Given the description of an element on the screen output the (x, y) to click on. 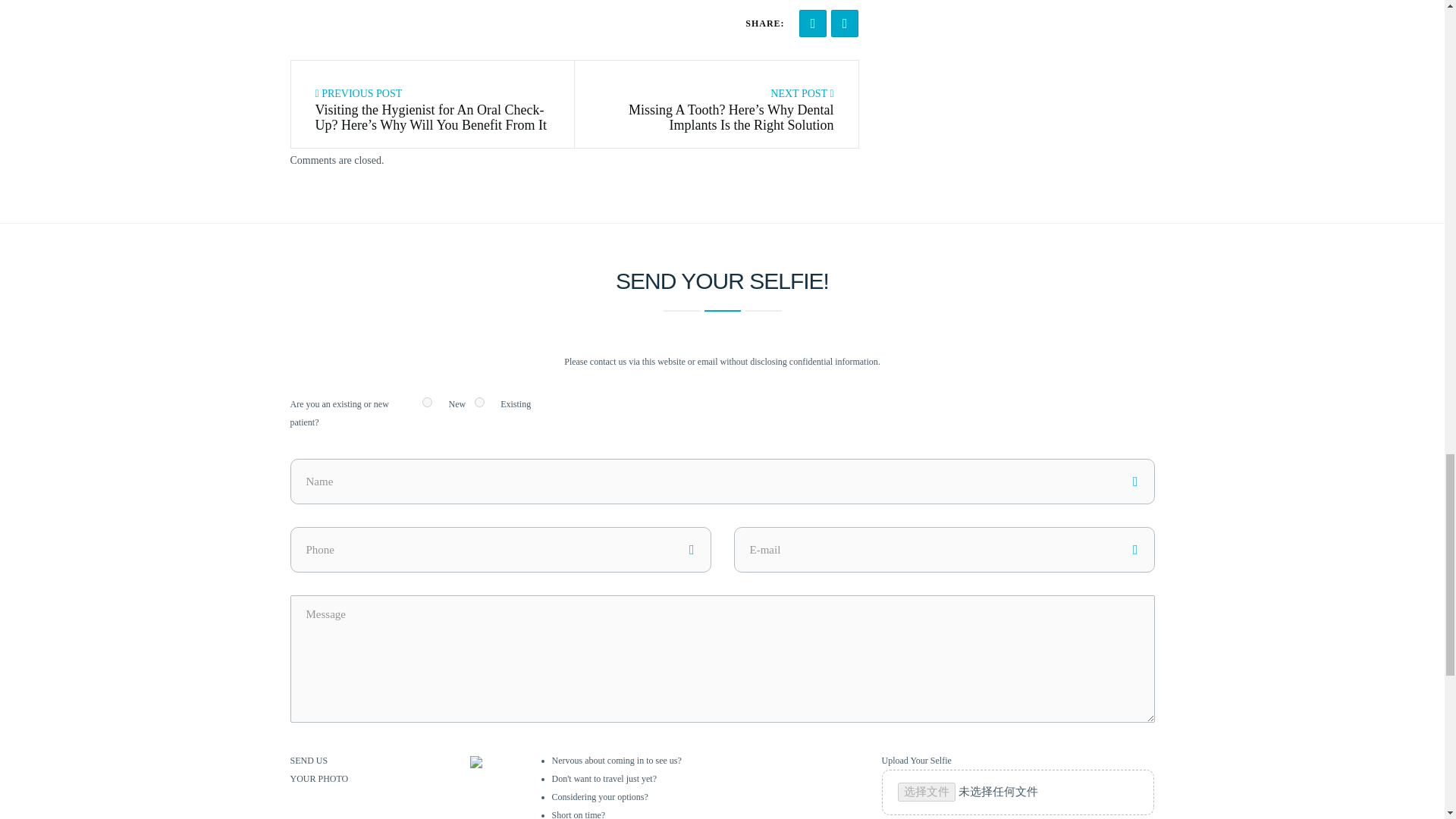
Existing (479, 402)
Tweet (845, 22)
Share on Facebook (813, 22)
New (427, 402)
